Given the description of an element on the screen output the (x, y) to click on. 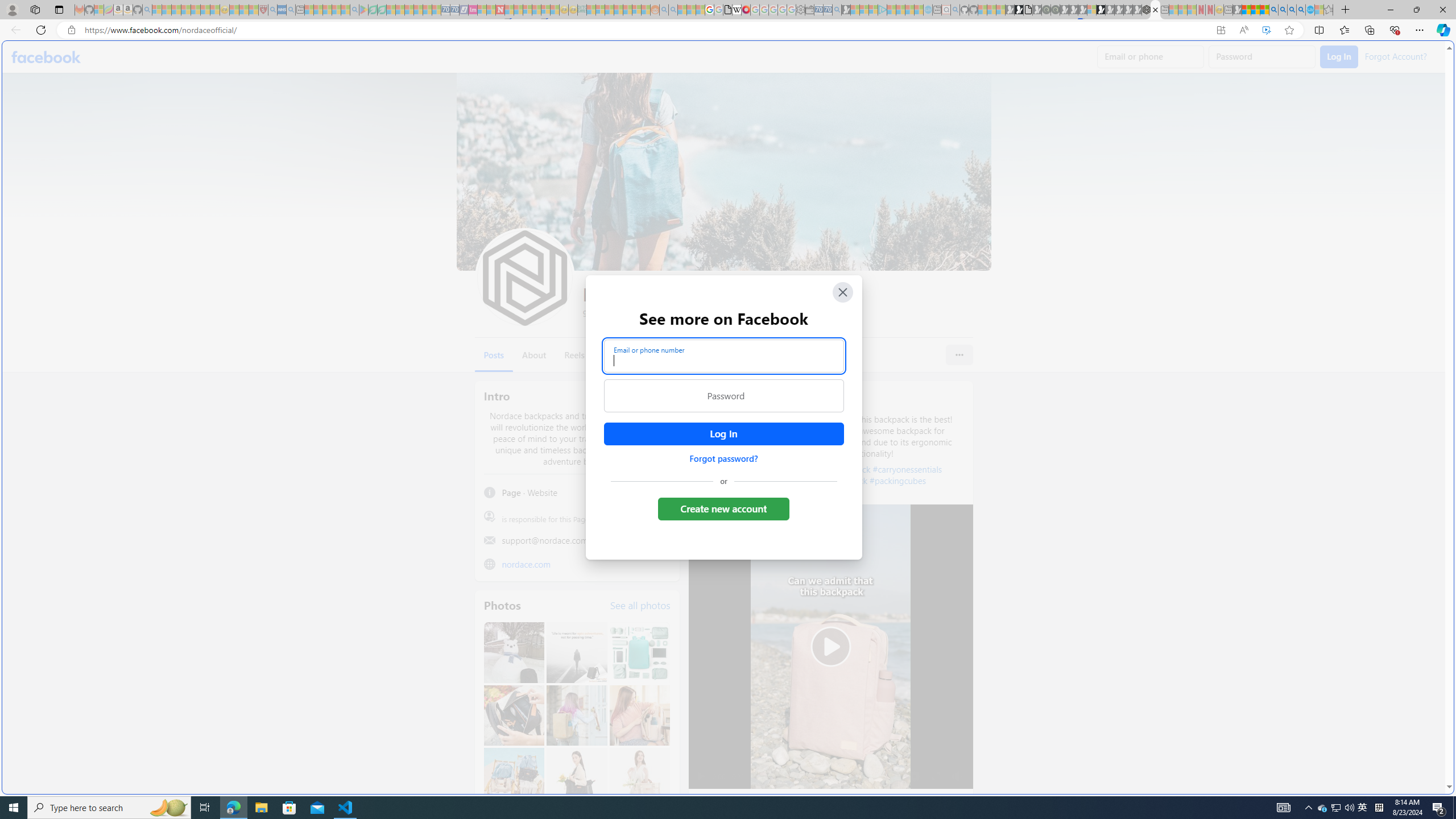
Accessible login button (723, 433)
Favorites - Sleeping (1328, 9)
Services - Maintenance | Sky Blue Bikes - Sky Blue Bikes (1309, 9)
Terms of Use Agreement - Sleeping (372, 9)
Expert Portfolios - Sleeping (617, 9)
